Given the description of an element on the screen output the (x, y) to click on. 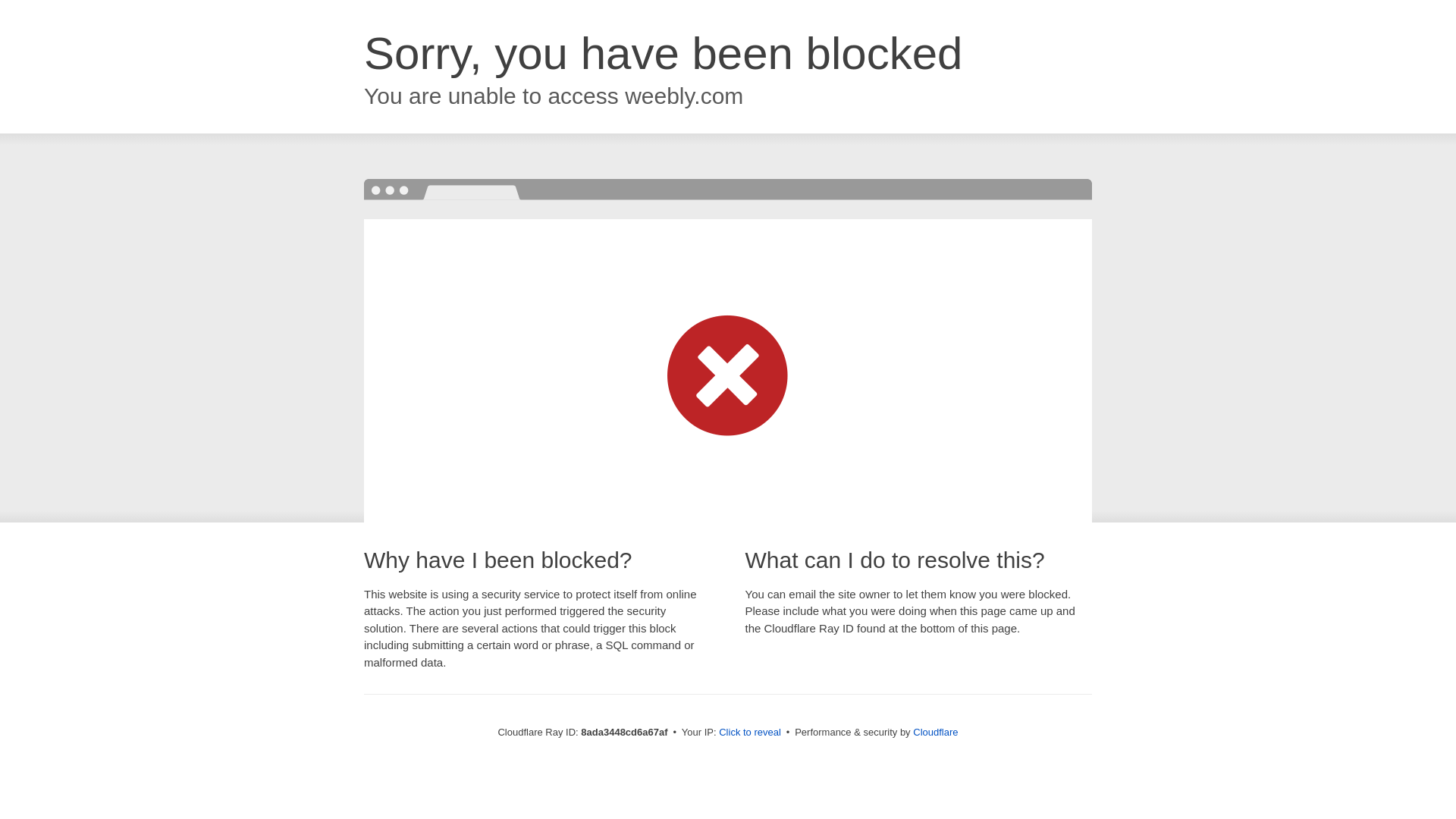
Cloudflare (935, 731)
Click to reveal (749, 732)
